Given the description of an element on the screen output the (x, y) to click on. 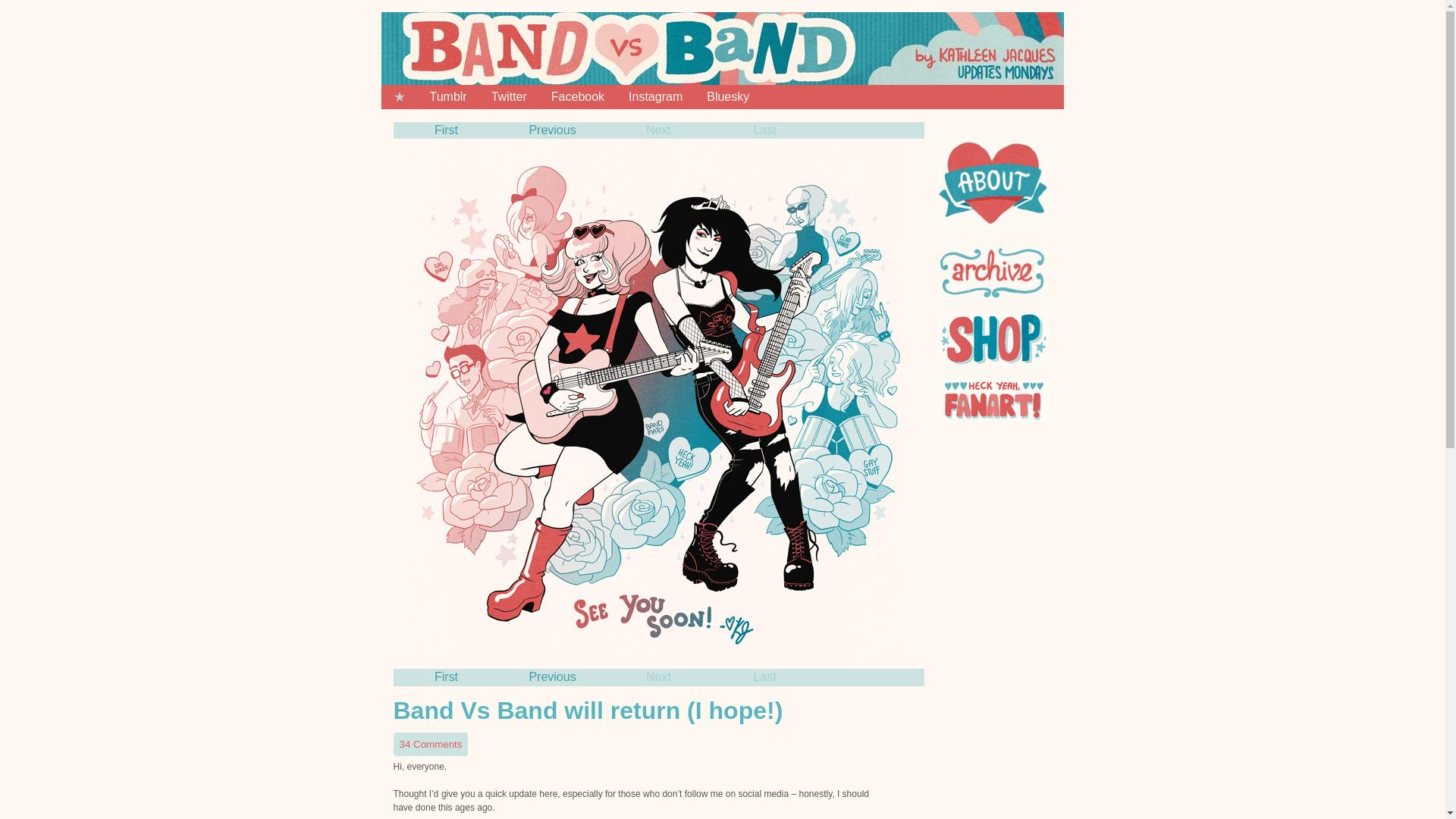
Twitter (508, 96)
Tumblr (447, 96)
Previous (552, 677)
Previous (552, 130)
First (446, 677)
Last (763, 130)
Instagram (654, 96)
Last (763, 677)
First (446, 130)
Bluesky (727, 96)
